Given the description of an element on the screen output the (x, y) to click on. 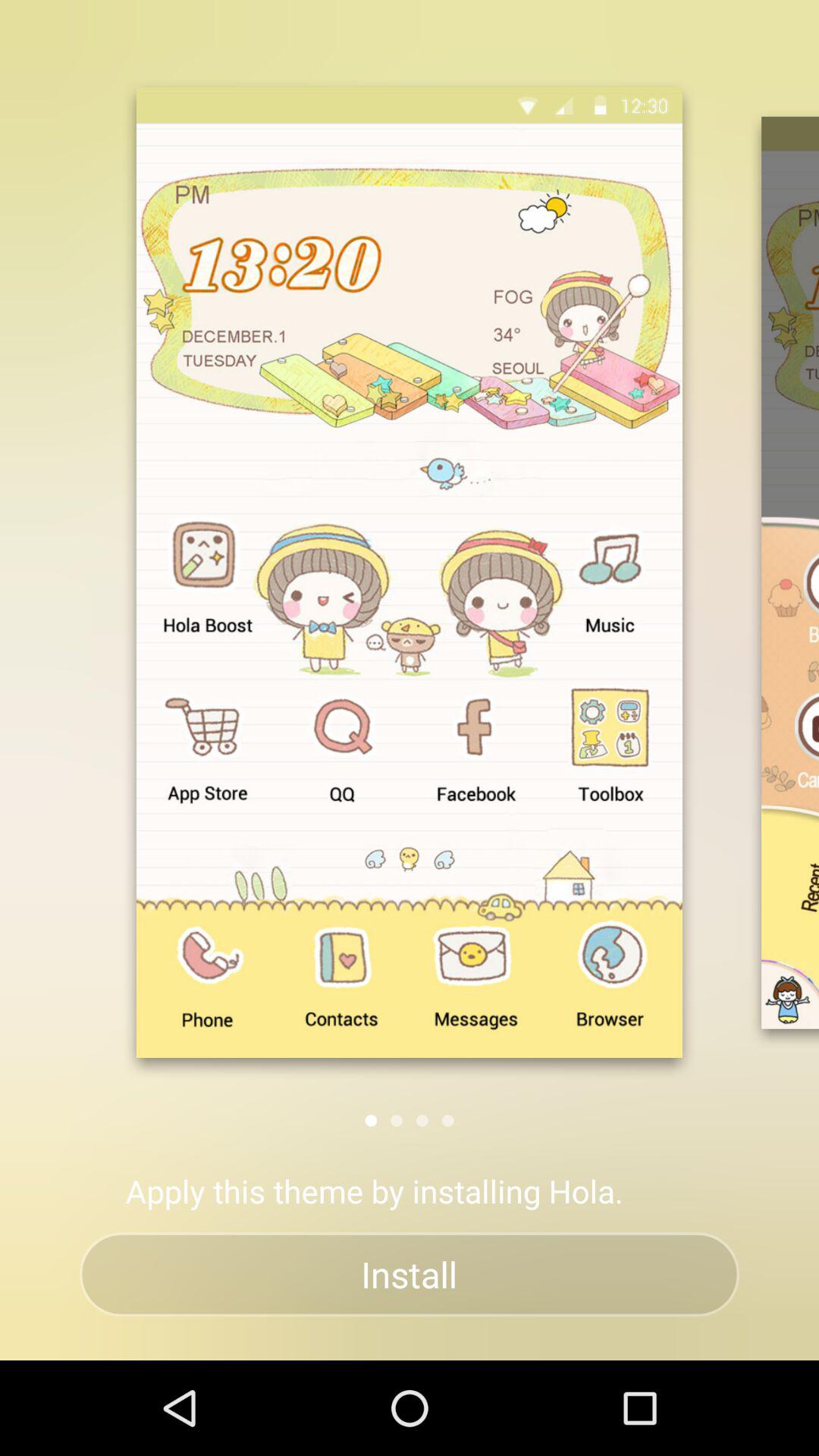
launch app above the apply this theme (447, 1120)
